Given the description of an element on the screen output the (x, y) to click on. 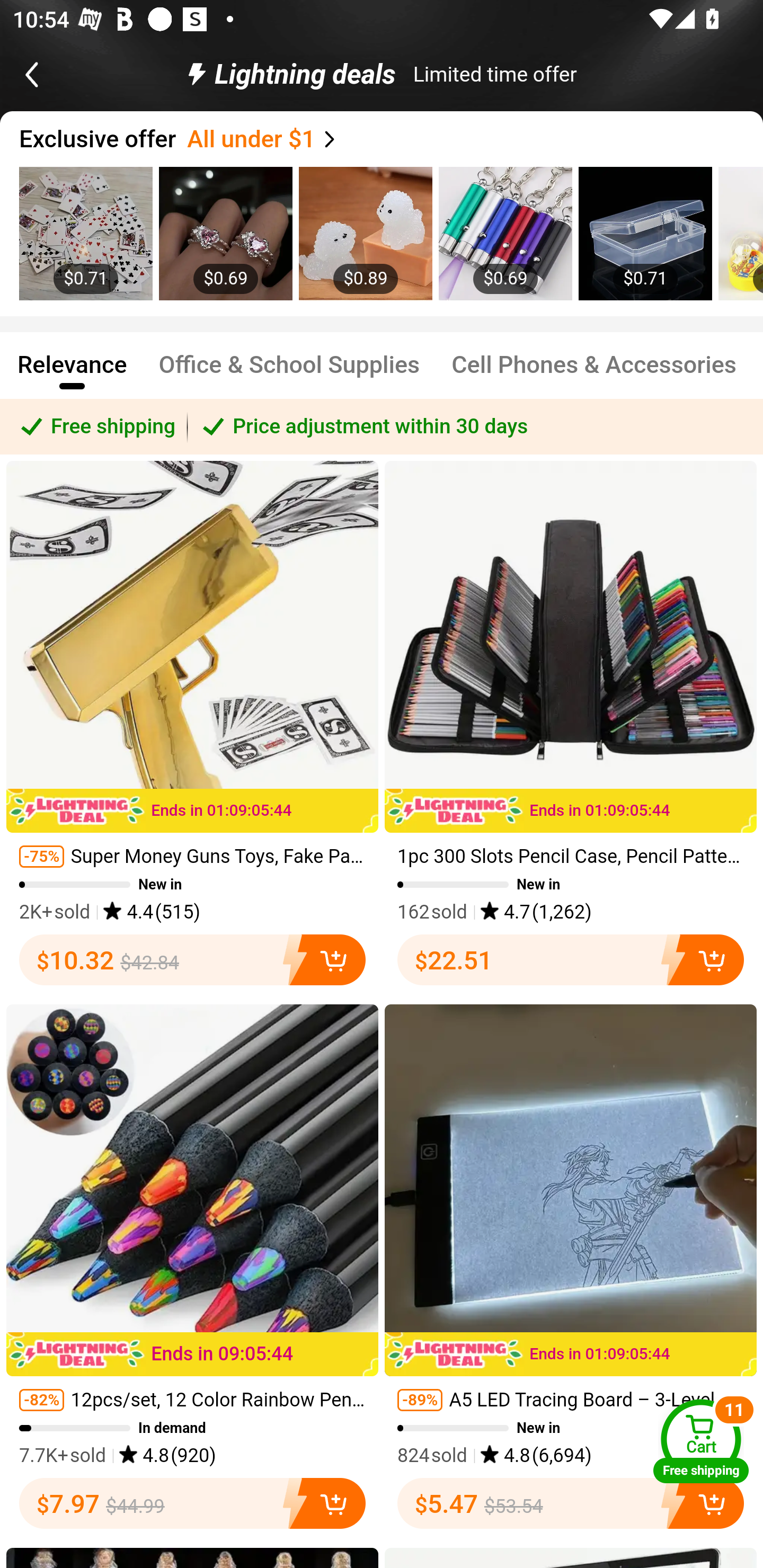
Exclusive offer All under $1 (391, 138)
Relevance (72, 373)
Office & School Supplies (289, 373)
Cell Phones & Accessories (594, 373)
Free shipping (94, 426)
Price adjustment within 30 days (475, 426)
$10.32 $42.84 (192, 959)
$22.51 (570, 959)
Cart Free shipping Cart (701, 1440)
$7.97 $44.99 (192, 1503)
$5.47 $53.54 (570, 1503)
